Given the description of an element on the screen output the (x, y) to click on. 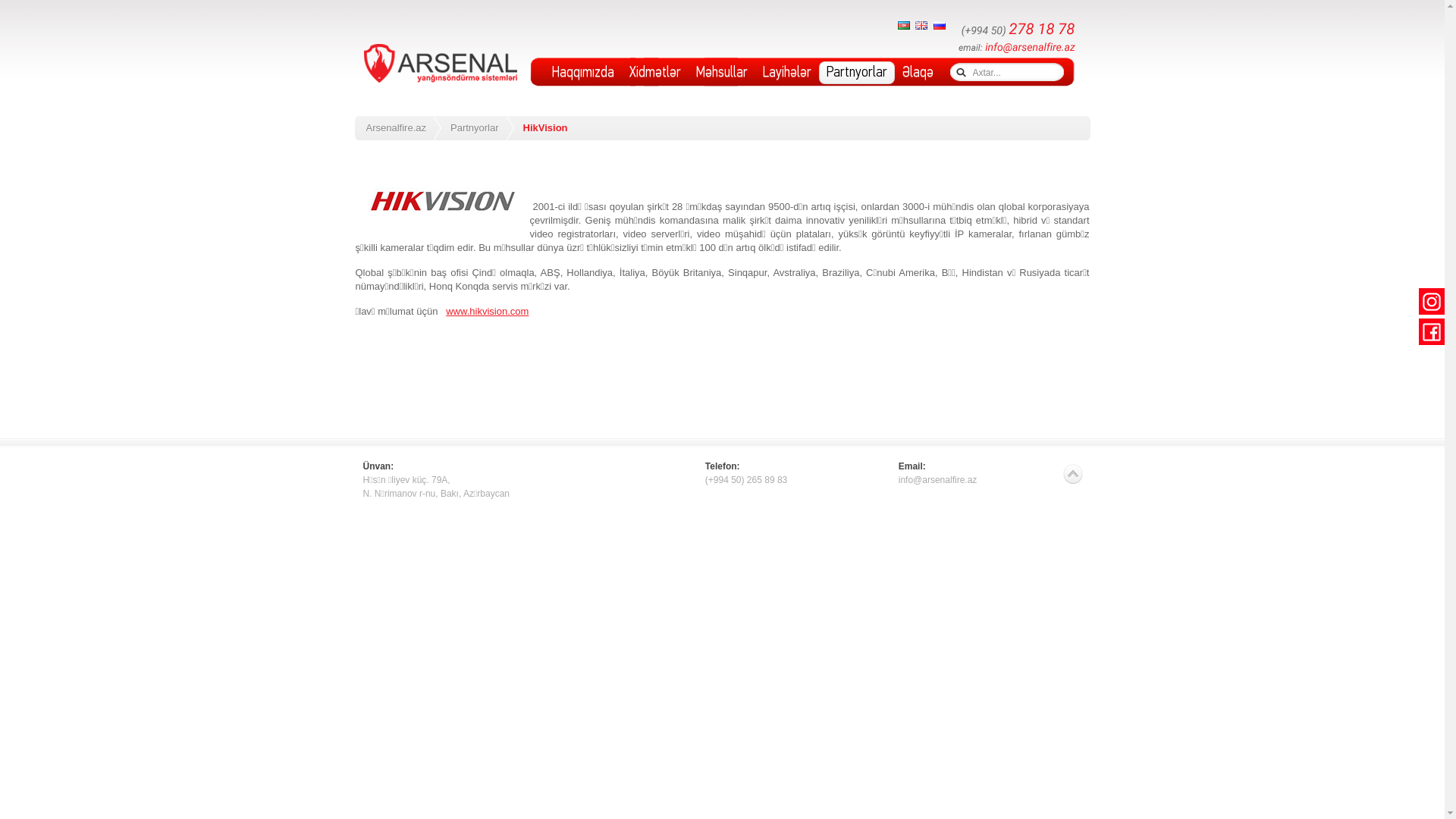
Partnyorlar Element type: text (856, 72)
Reset Element type: text (3, 3)
Arsenalfire.az Element type: text (403, 128)
Partnyorlar Element type: text (482, 128)
www.hikvision.com Element type: text (486, 310)
